Given the description of an element on the screen output the (x, y) to click on. 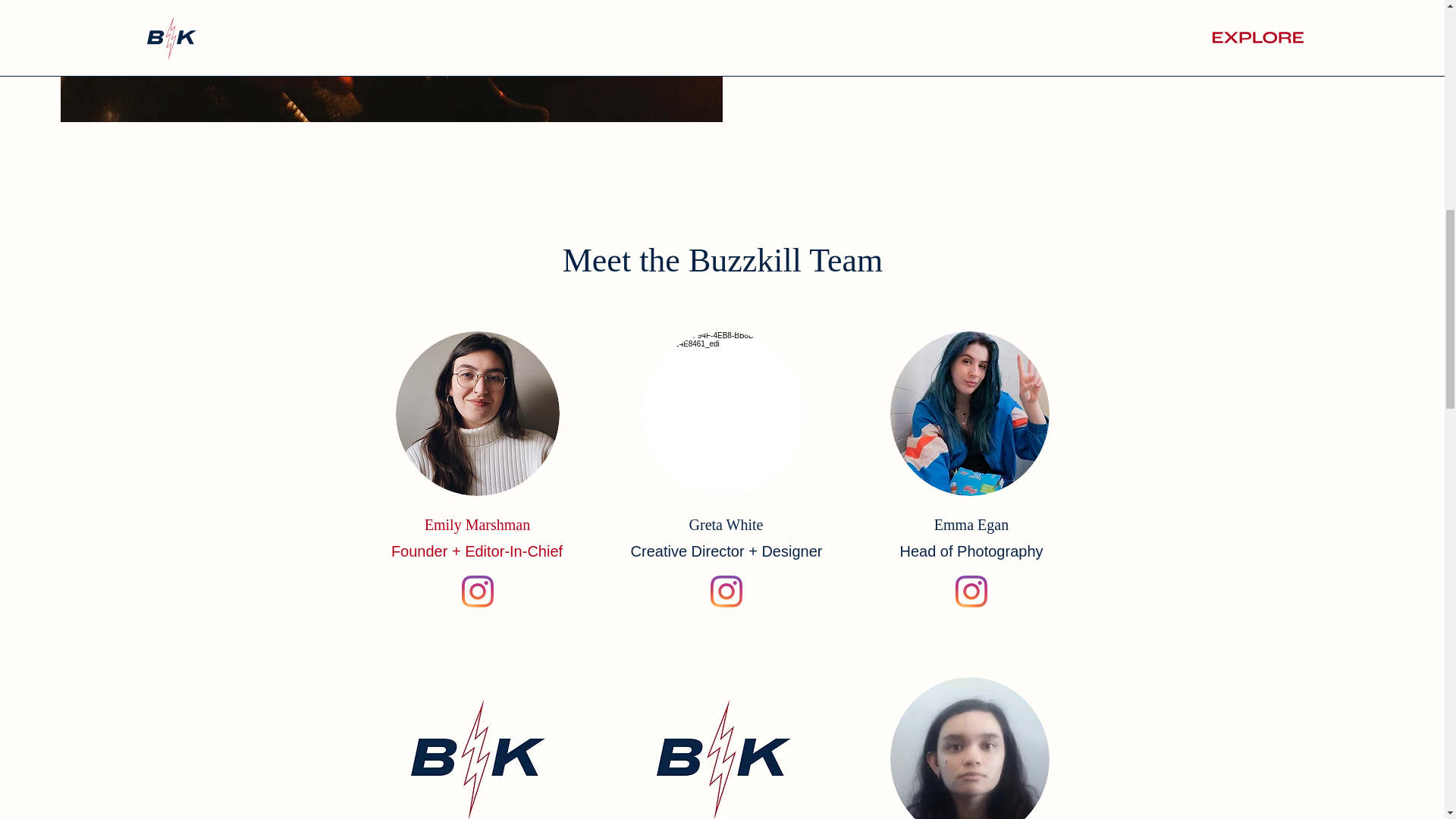
guy4.jpg (723, 413)
guy2.jpg (477, 748)
guy4.jpg (723, 748)
guy3.jpg (969, 413)
guy2.jpg (477, 413)
guy3.jpg (969, 748)
